Given the description of an element on the screen output the (x, y) to click on. 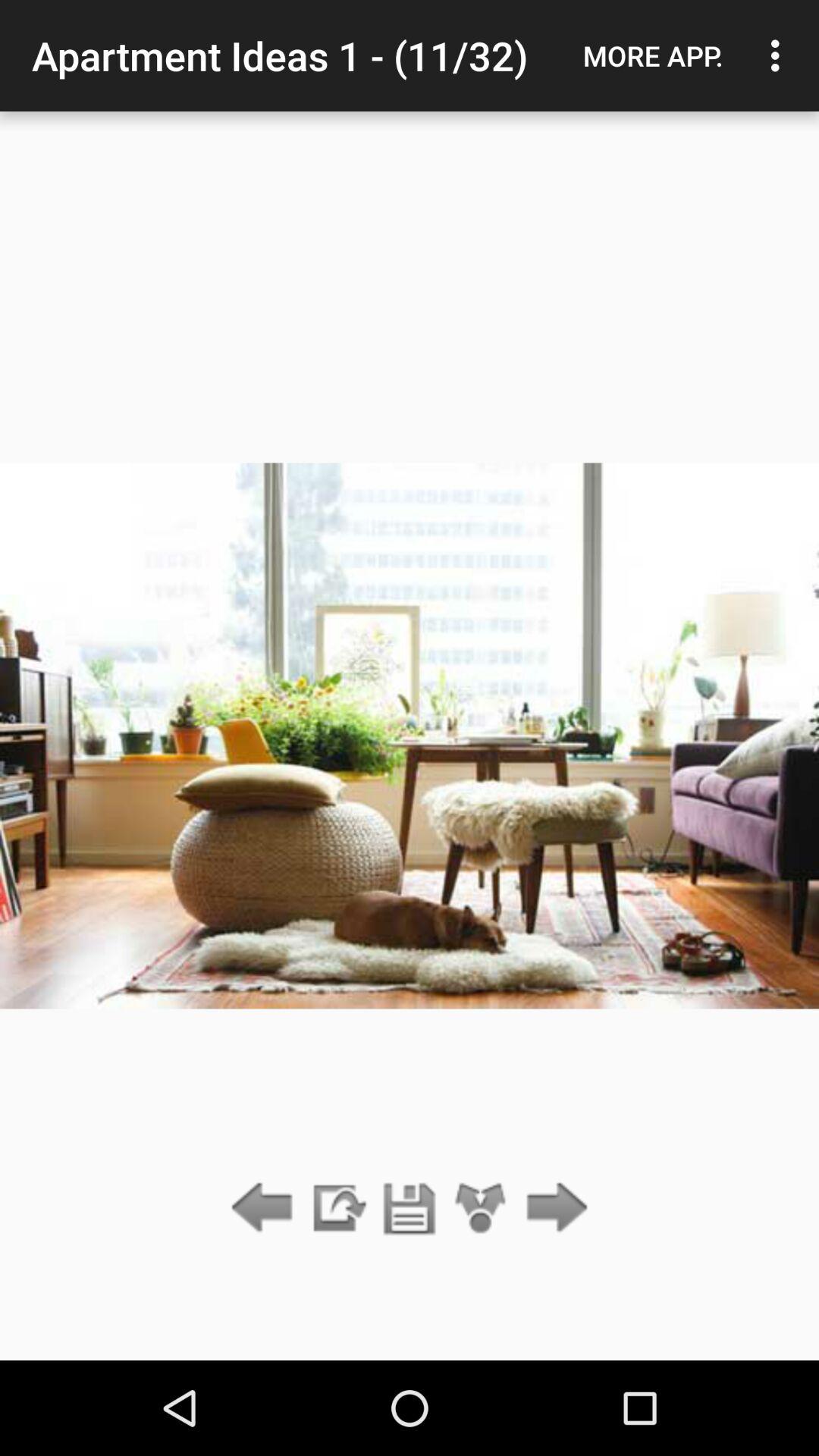
press icon to the right of apartment ideas 1 icon (653, 55)
